Given the description of an element on the screen output the (x, y) to click on. 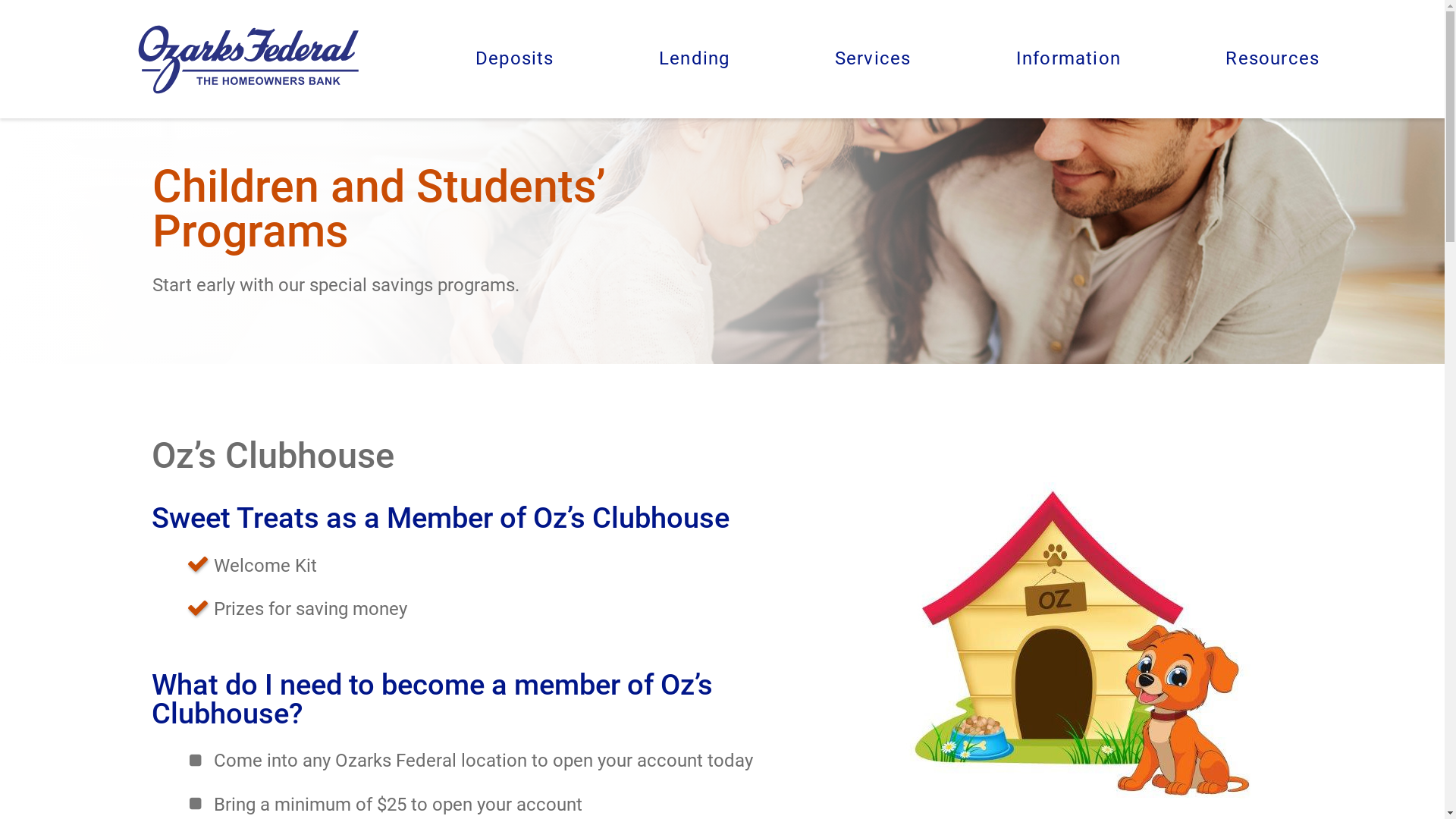
Services Element type: text (873, 59)
Information Element type: text (1068, 59)
Resources Element type: text (1272, 59)
Deposits Element type: text (514, 59)
Lending Element type: text (694, 59)
